Given the description of an element on the screen output the (x, y) to click on. 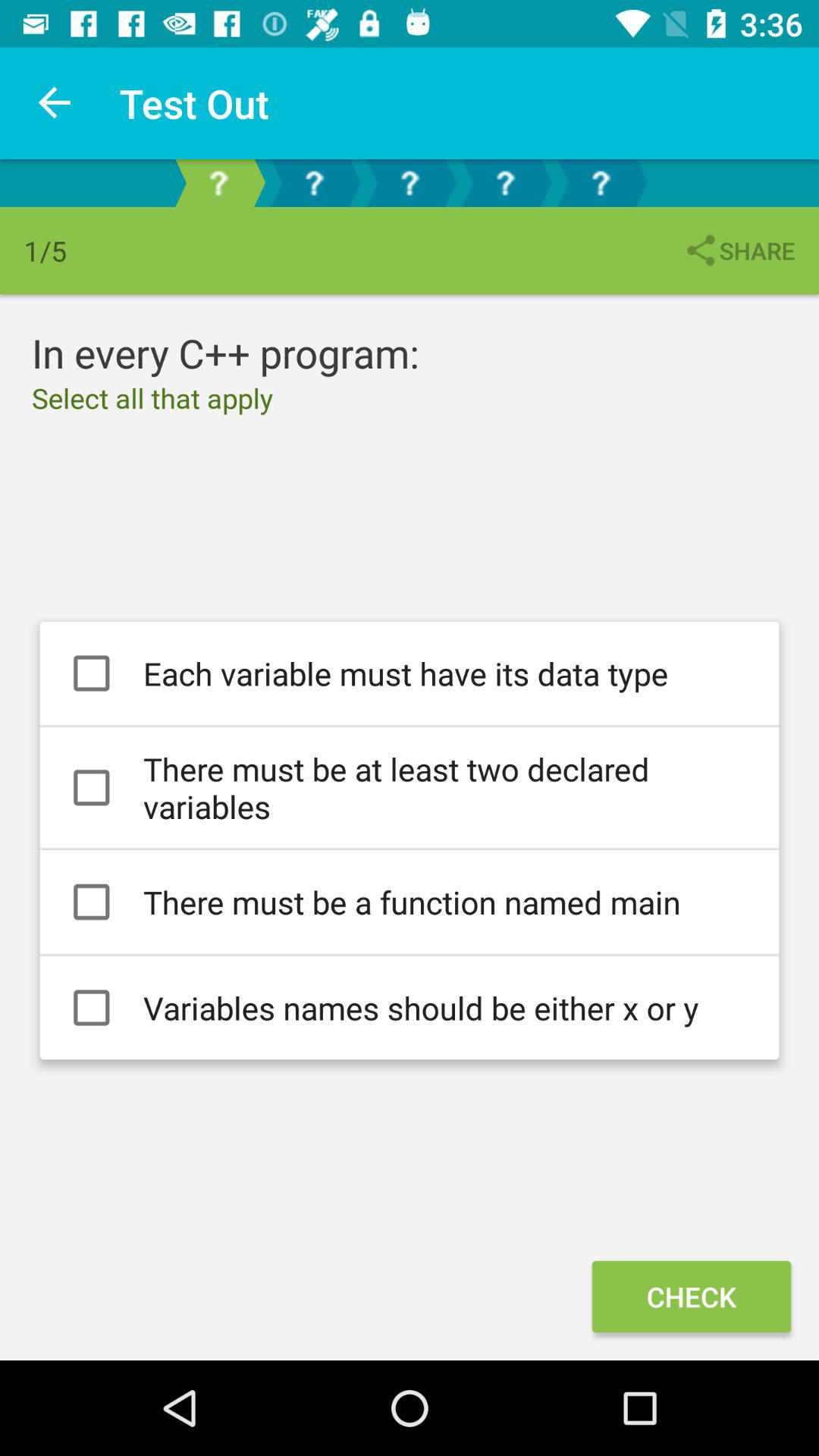
select item next to the test out icon (55, 103)
